Given the description of an element on the screen output the (x, y) to click on. 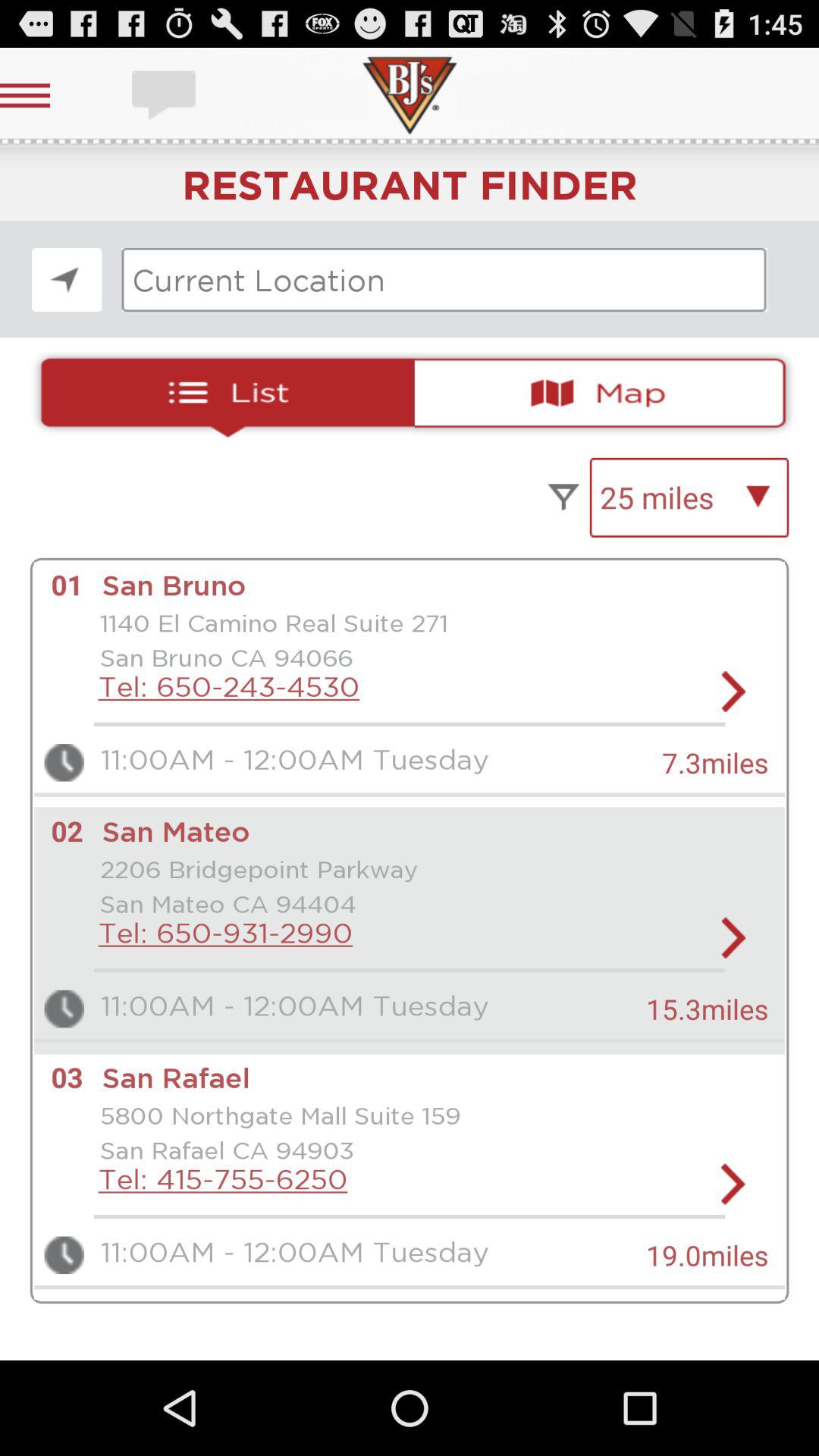
my location (66, 279)
